Given the description of an element on the screen output the (x, y) to click on. 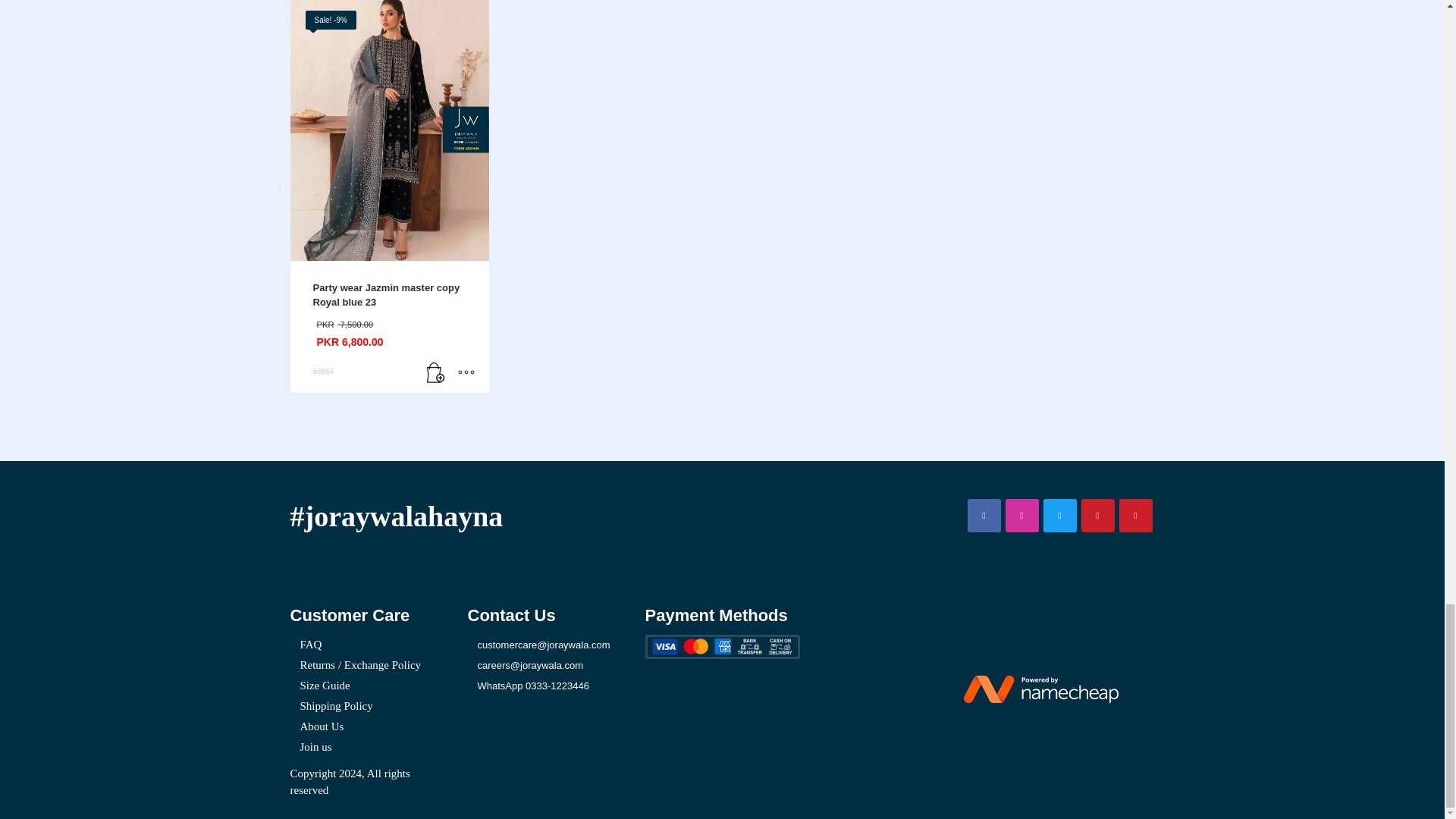
MORE INFO (466, 373)
